Given the description of an element on the screen output the (x, y) to click on. 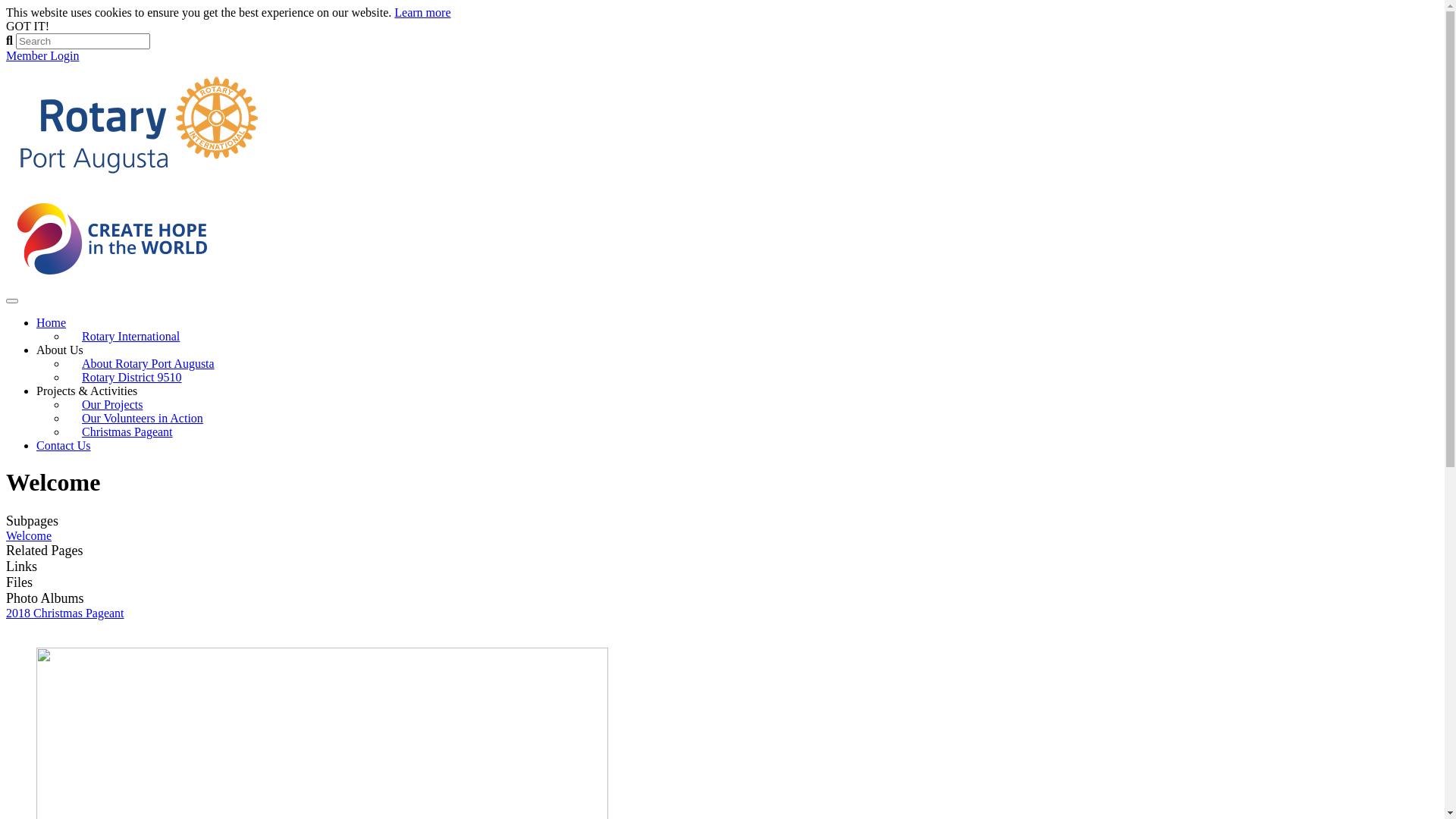
2018 Christmas Pageant Element type: text (65, 612)
Our Projects Element type: text (111, 404)
Toggle navigation Element type: text (12, 300)
Learn more Element type: text (422, 12)
Contact Us Element type: text (63, 445)
Welcome Element type: text (28, 535)
Member Login Element type: text (42, 55)
Our Volunteers in Action Element type: text (142, 417)
Rotary International Element type: text (130, 336)
Rotary District 9510 Element type: text (131, 376)
GOT IT! Element type: text (27, 25)
Christmas Pageant Element type: text (127, 431)
About Rotary Port Augusta Element type: text (147, 363)
Projects & Activities Element type: text (86, 390)
Home Element type: text (50, 322)
About Us Element type: text (59, 349)
